Given the description of an element on the screen output the (x, y) to click on. 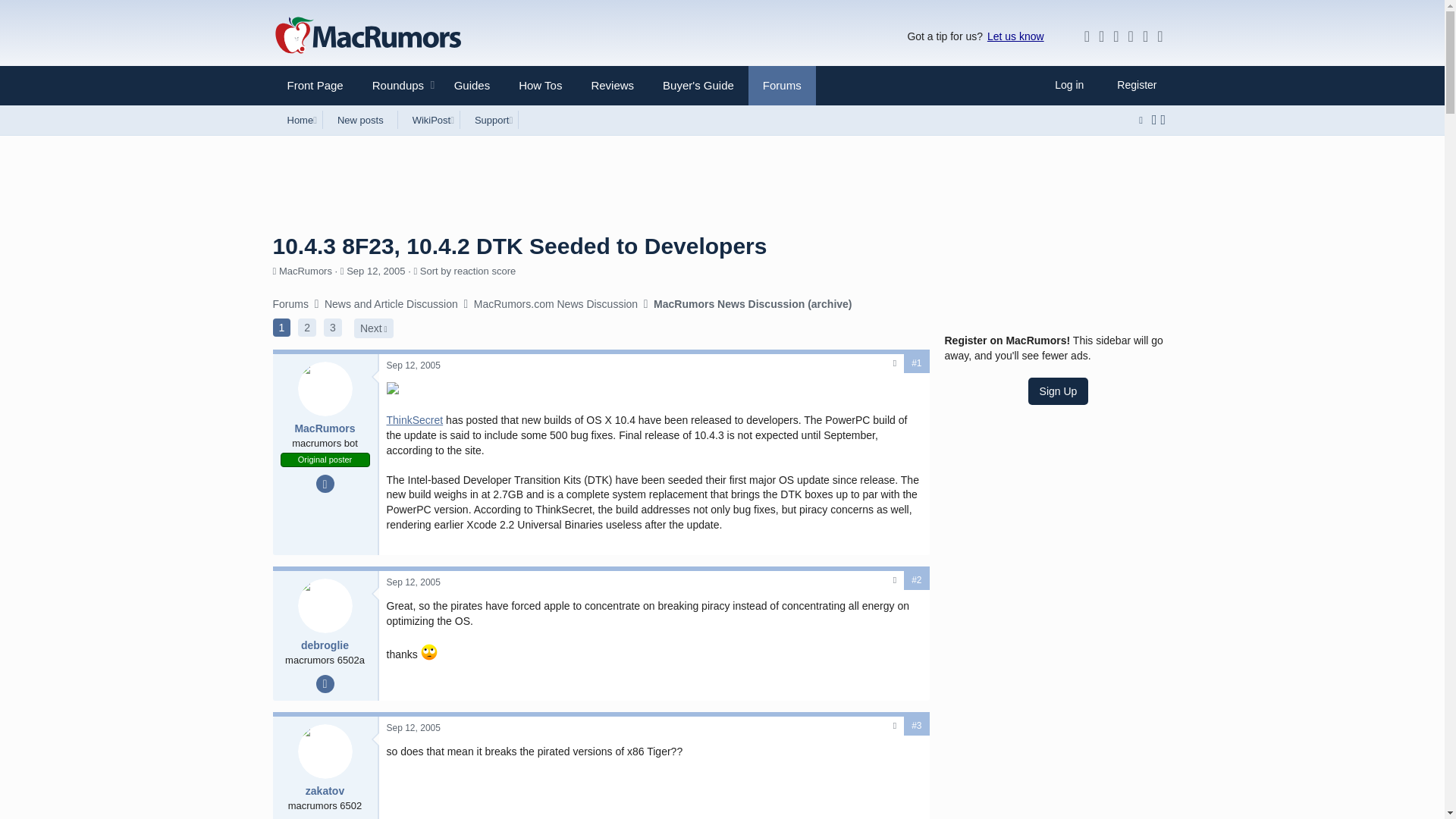
Let us know (396, 119)
Front Page (1014, 36)
Roundups (315, 85)
